Given the description of an element on the screen output the (x, y) to click on. 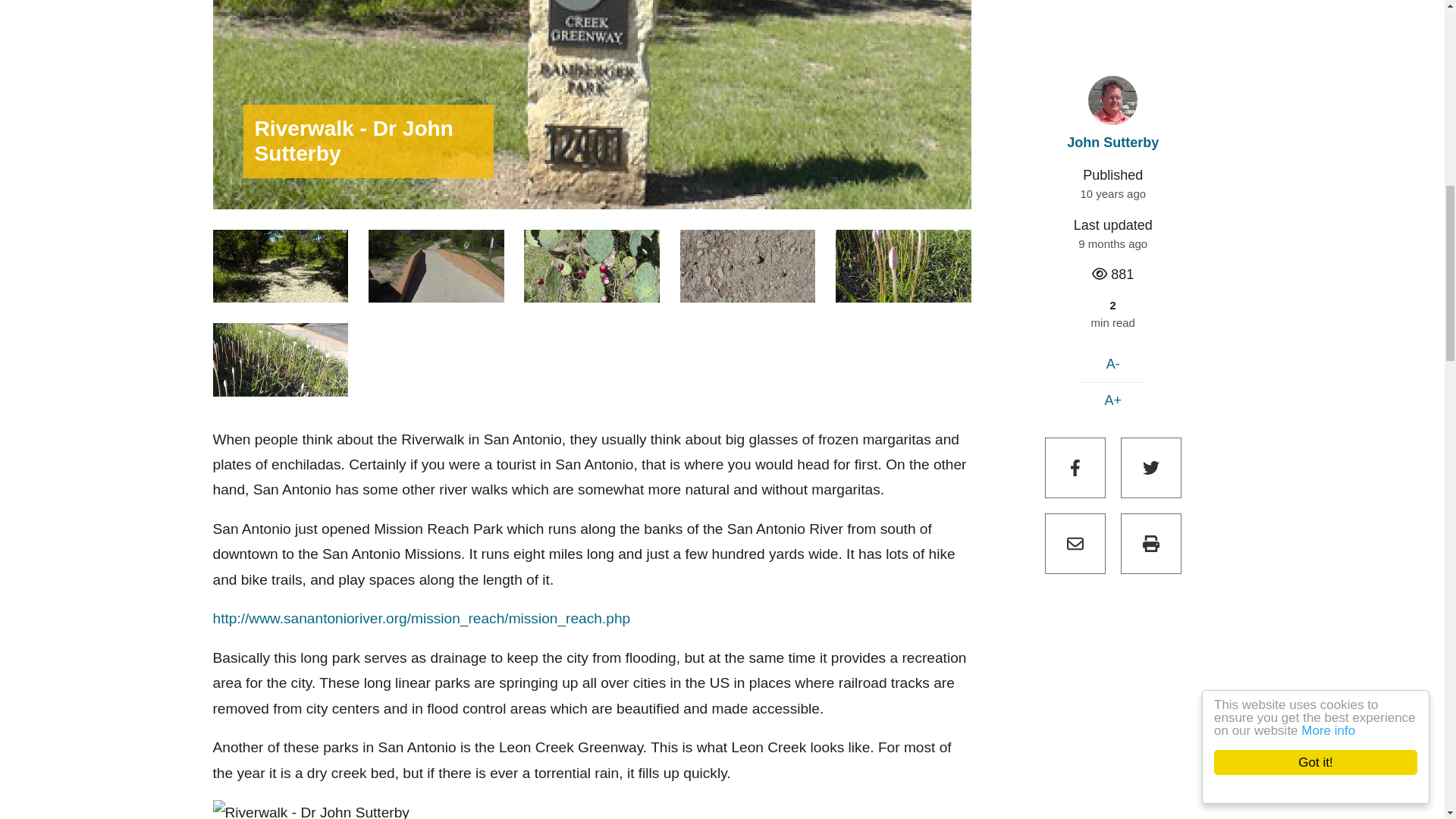
Riverwalk - Dr John Sutterby (747, 266)
Riverwalk - Dr John Sutterby (903, 266)
Riverwalk - Dr John Sutterby (310, 809)
Riverwalk - Dr John Sutterby (279, 359)
Riverwalk - Dr John Sutterby (435, 266)
Riverwalk - Dr John Sutterby (279, 266)
Riverwalk - Dr John Sutterby (591, 266)
